Given the description of an element on the screen output the (x, y) to click on. 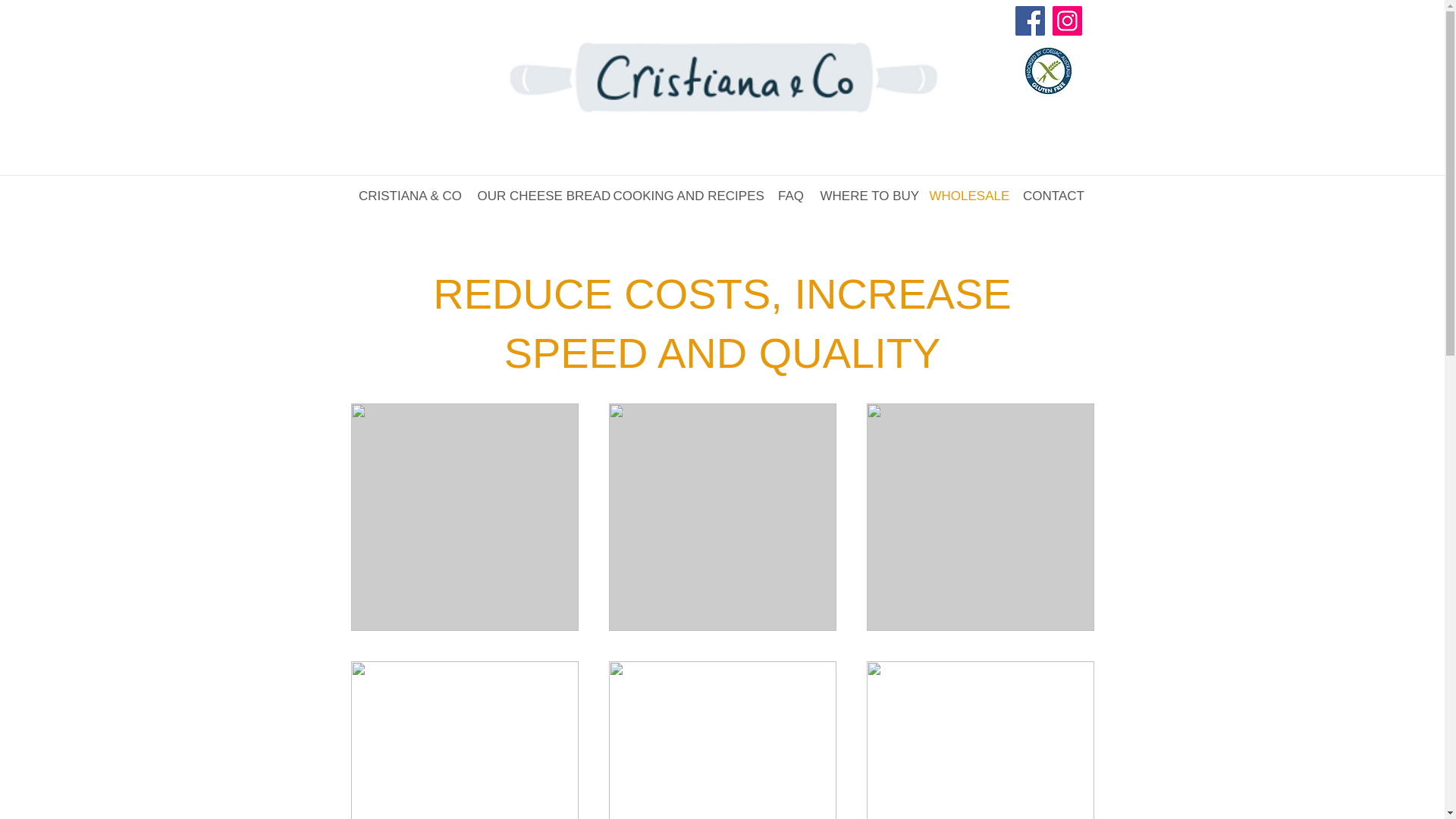
FAQ (790, 196)
COOKING AND RECIPES (686, 196)
CONTACT (1053, 196)
WHERE TO BUY (866, 196)
WHOLESALE (967, 196)
OUR CHEESE BREAD (537, 196)
